Given the description of an element on the screen output the (x, y) to click on. 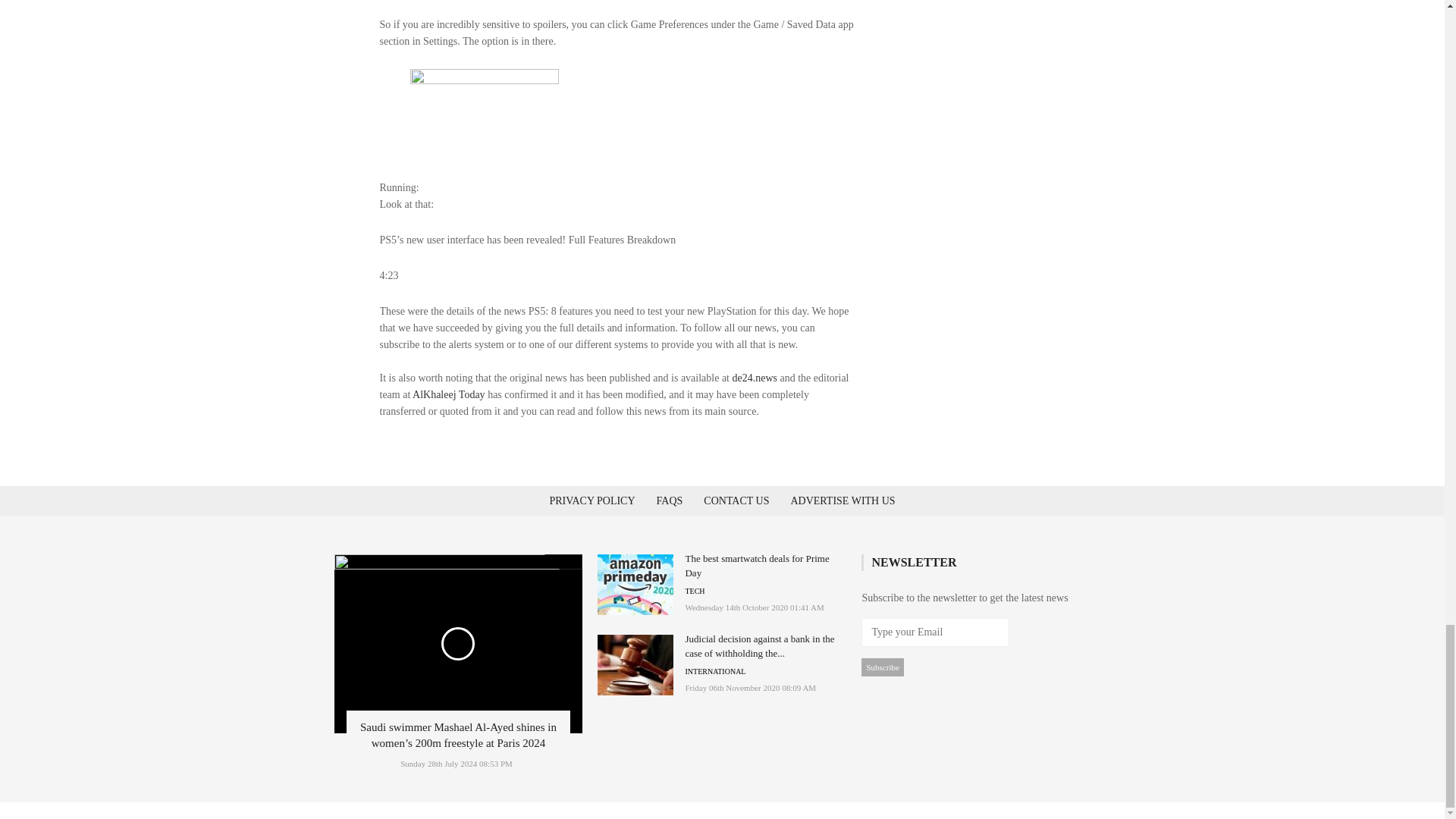
AlKhaleej Today (448, 394)
Subscribe (881, 667)
de24.news (754, 378)
